Given the description of an element on the screen output the (x, y) to click on. 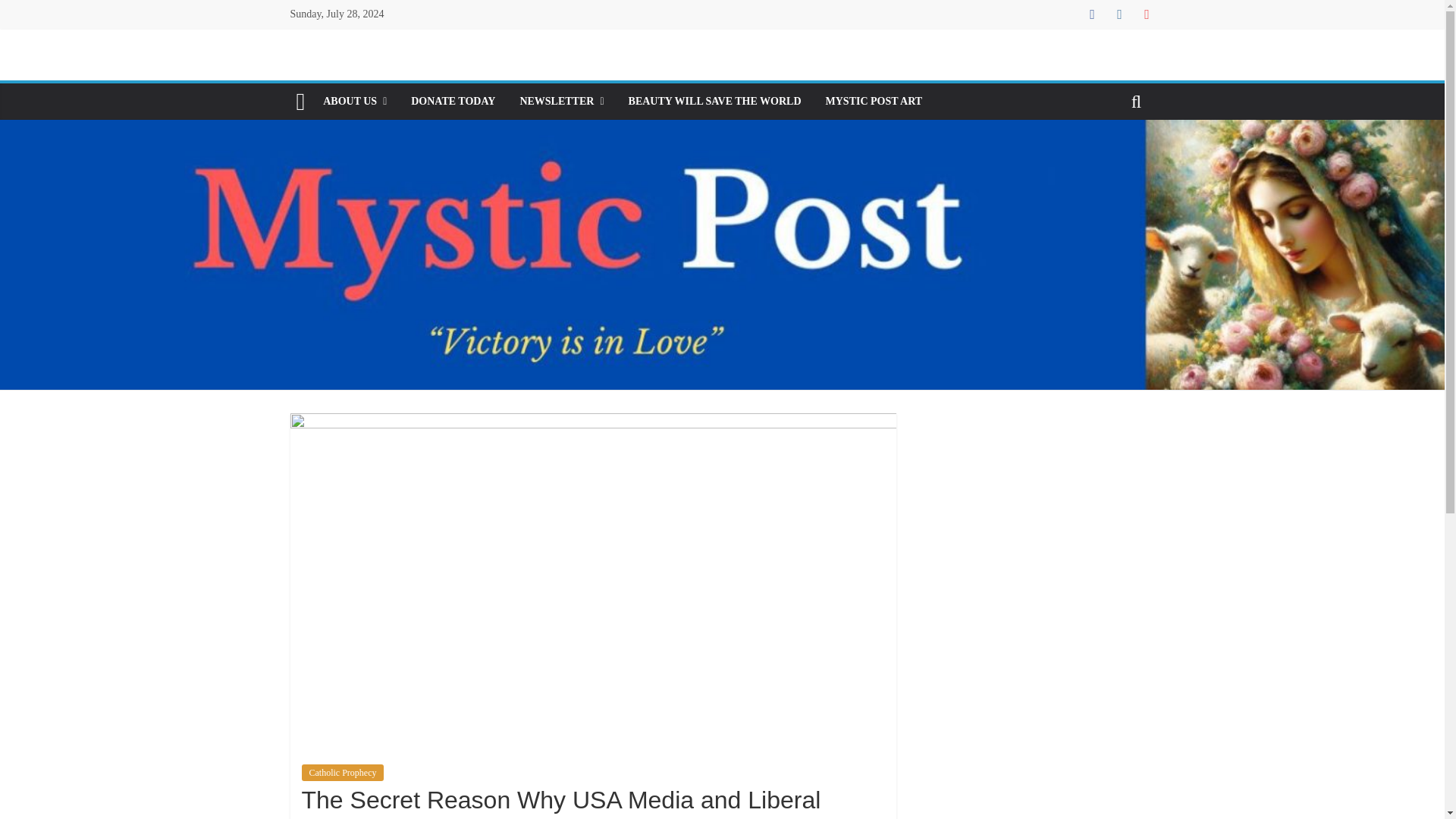
ABOUT US (354, 101)
NEWSLETTER (560, 101)
Mystic Post (300, 101)
DONATE TODAY (452, 101)
MYSTIC POST ART (873, 101)
BEAUTY WILL SAVE THE WORLD (714, 101)
Catholic Prophecy (342, 772)
